Given the description of an element on the screen output the (x, y) to click on. 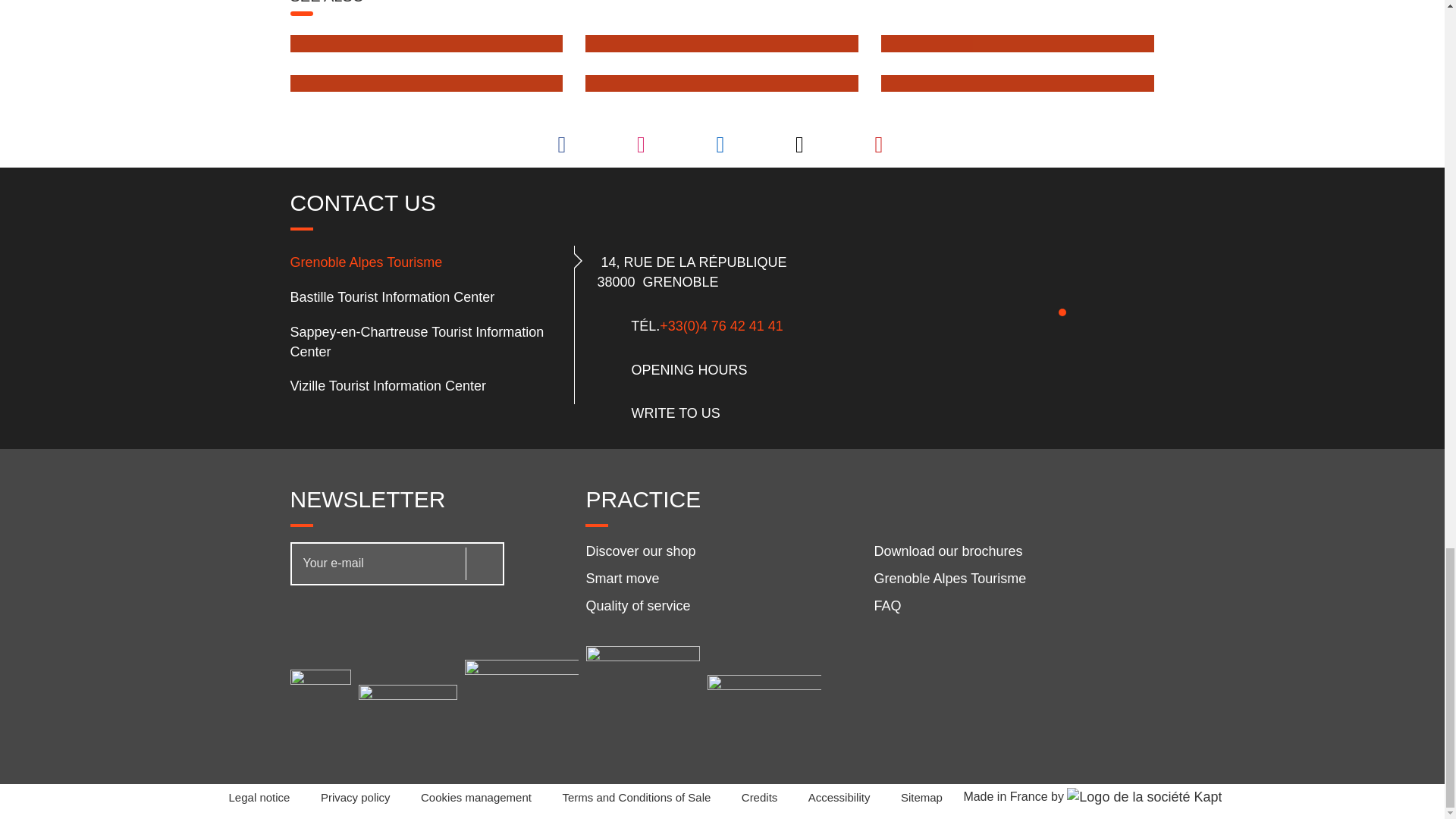
OK (482, 563)
